Given the description of an element on the screen output the (x, y) to click on. 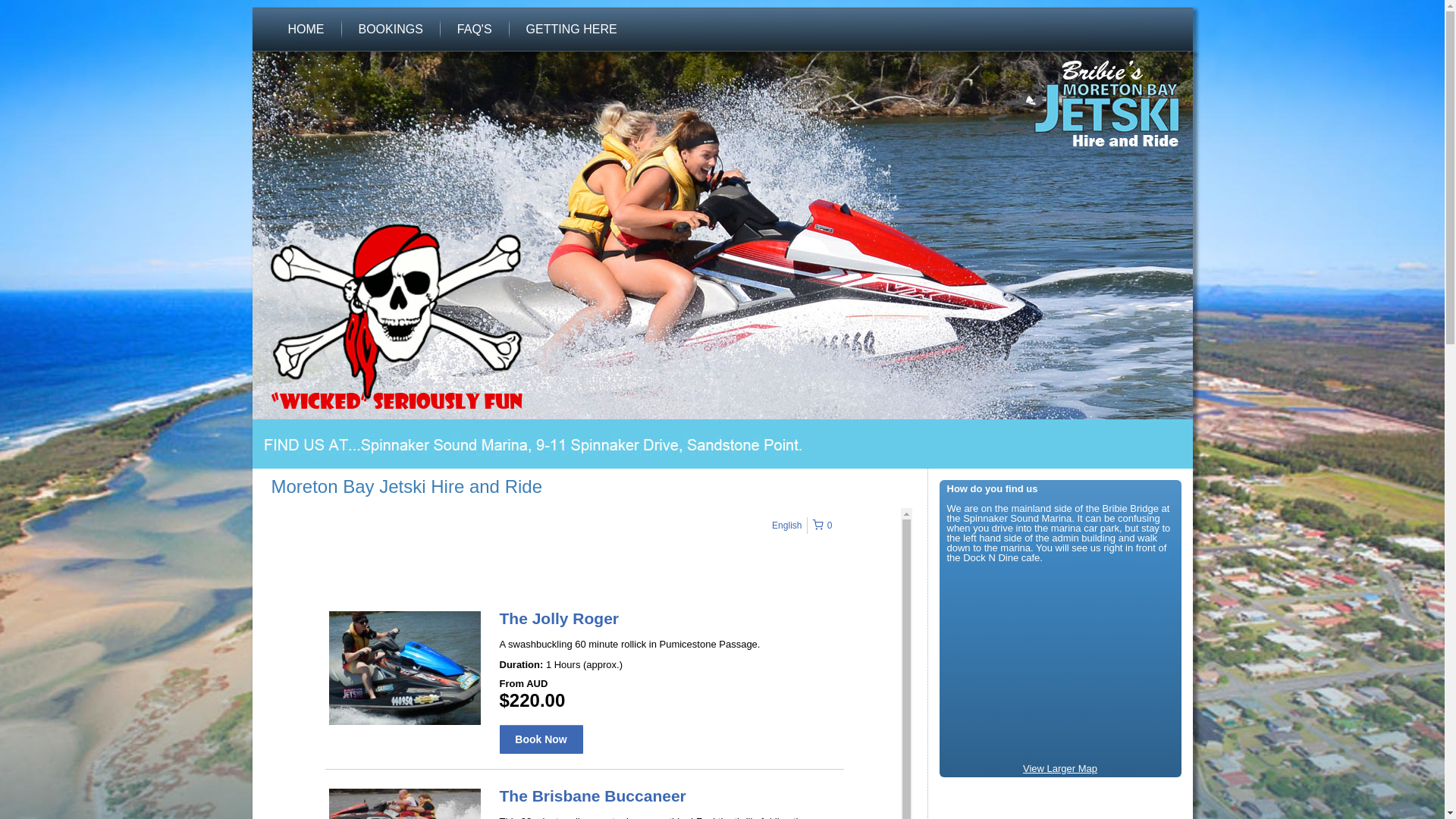
FAQ'S Element type: text (474, 29)
BOOKINGS Element type: text (390, 29)
View Larger Map Element type: text (1059, 768)
HOME Element type: text (306, 29)
GETTING HERE Element type: text (571, 29)
